Given the description of an element on the screen output the (x, y) to click on. 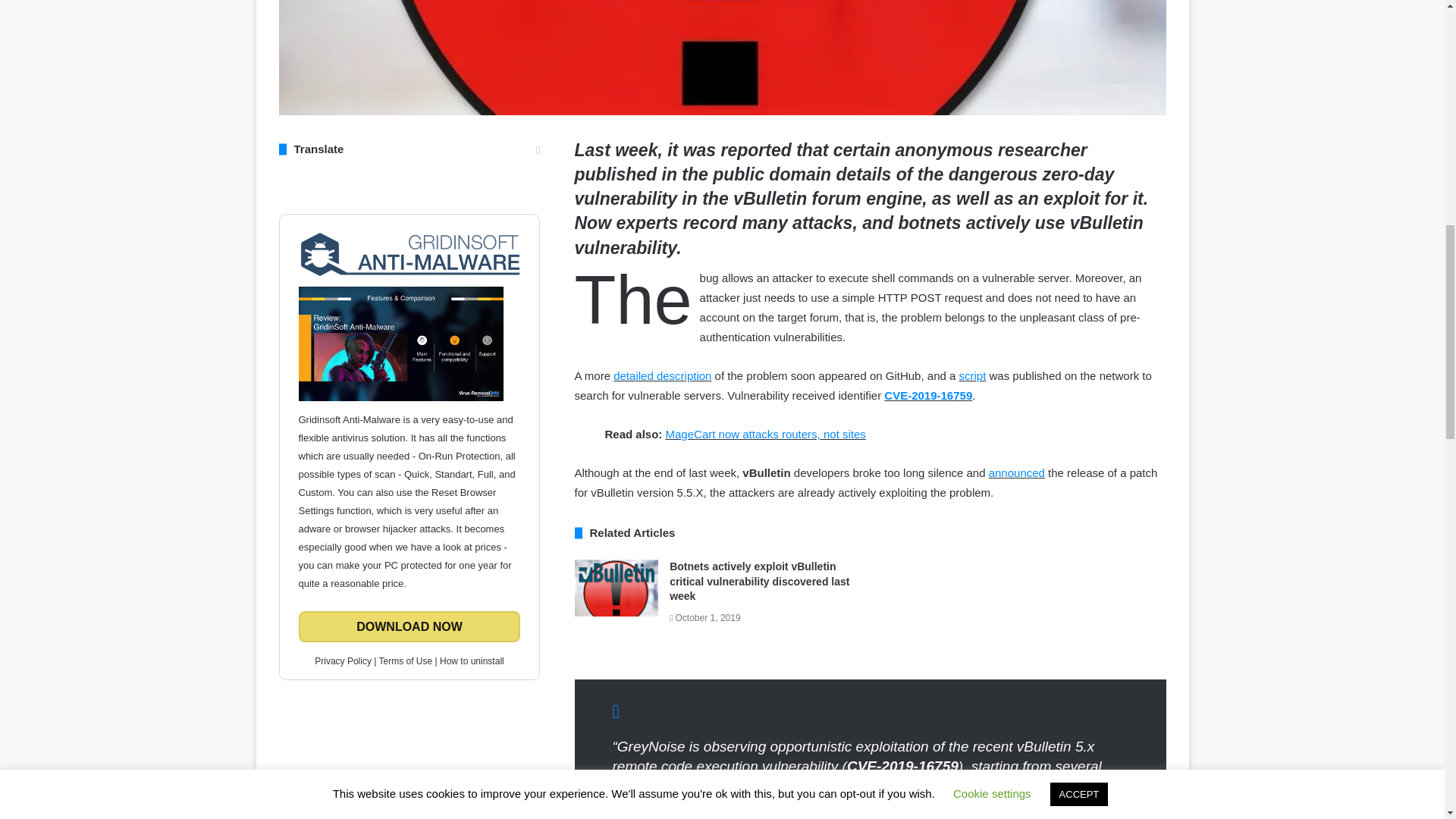
script (973, 375)
CVE-2019-16759 (927, 395)
GreyNoise (952, 785)
announced (1016, 472)
detailed description (661, 375)
MageCart now attacks routers, not sites (765, 433)
